Given the description of an element on the screen output the (x, y) to click on. 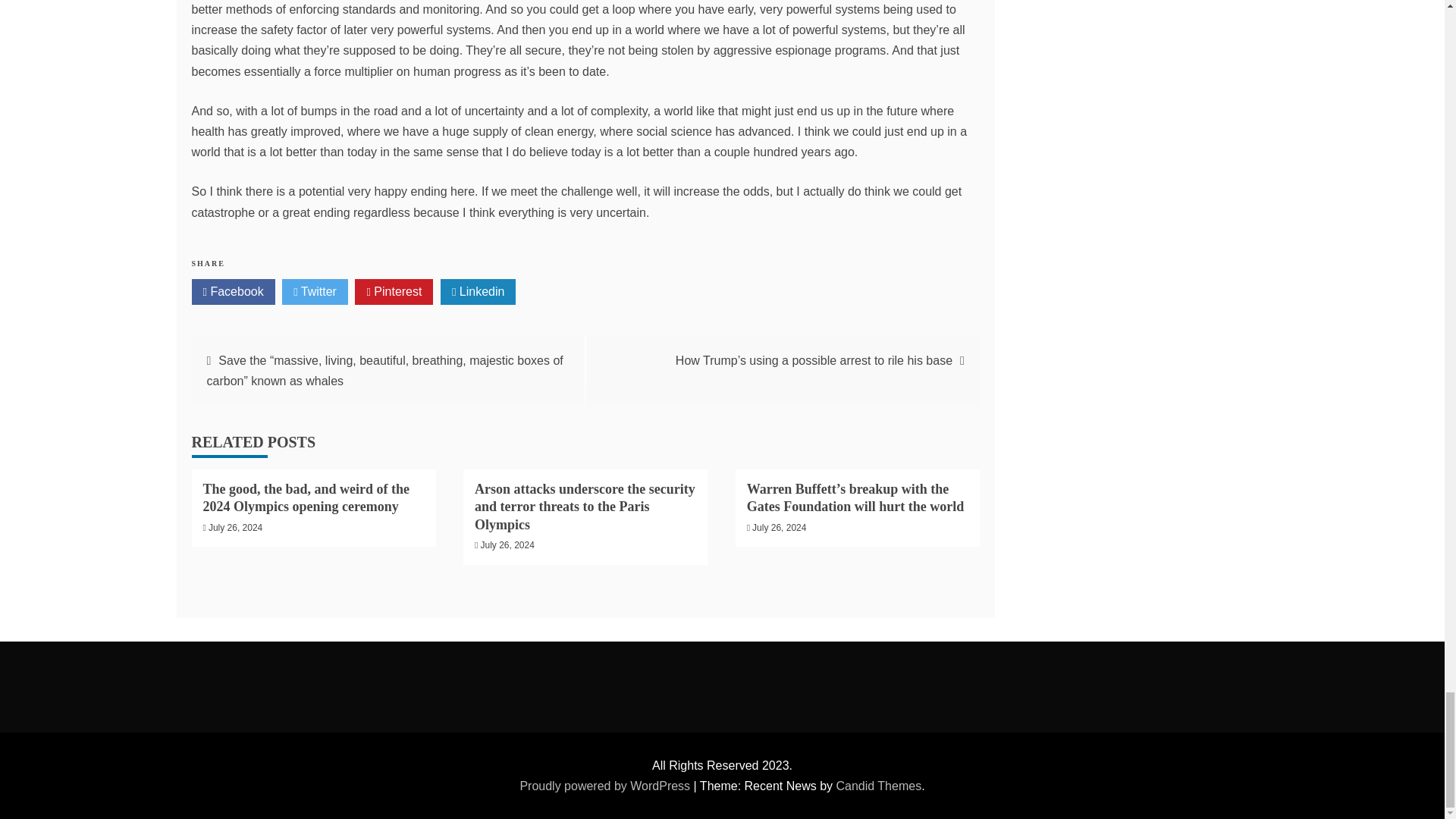
Pinterest (393, 291)
Twitter (314, 291)
Facebook (232, 291)
July 26, 2024 (235, 527)
Linkedin (478, 291)
